Given the description of an element on the screen output the (x, y) to click on. 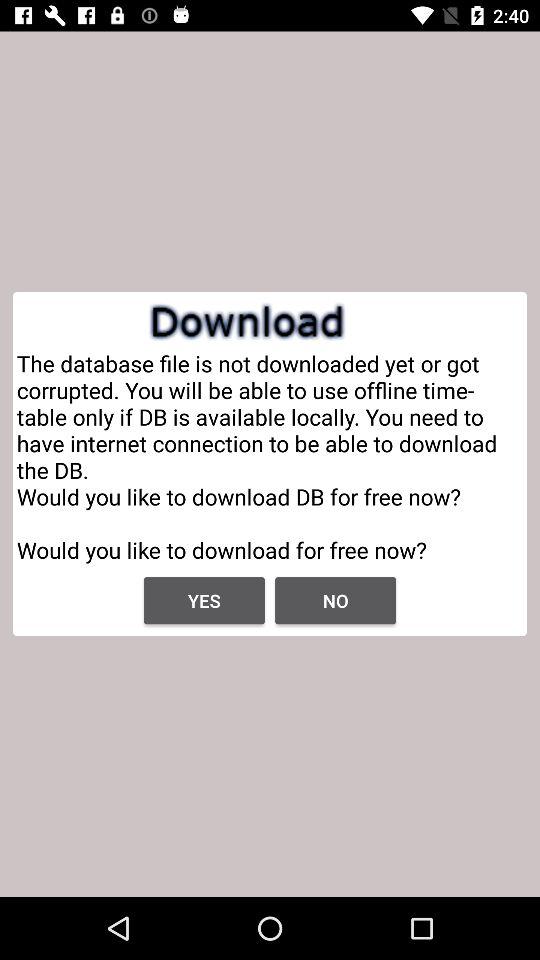
turn on the item to the left of no button (204, 600)
